Given the description of an element on the screen output the (x, y) to click on. 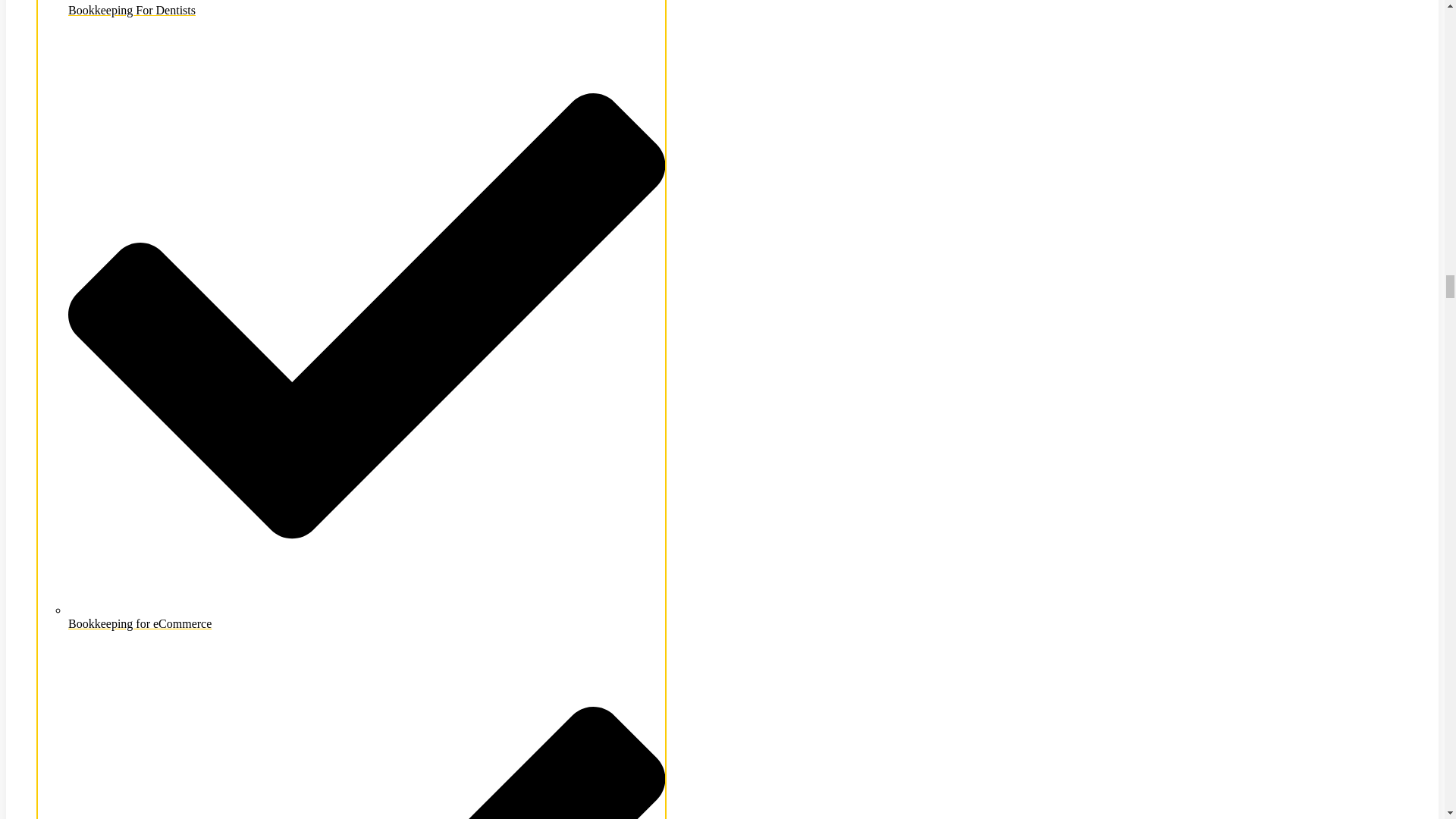
Bookkeeping For Dentists (366, 8)
Bookkeeping for eCommerce (366, 616)
